Given the description of an element on the screen output the (x, y) to click on. 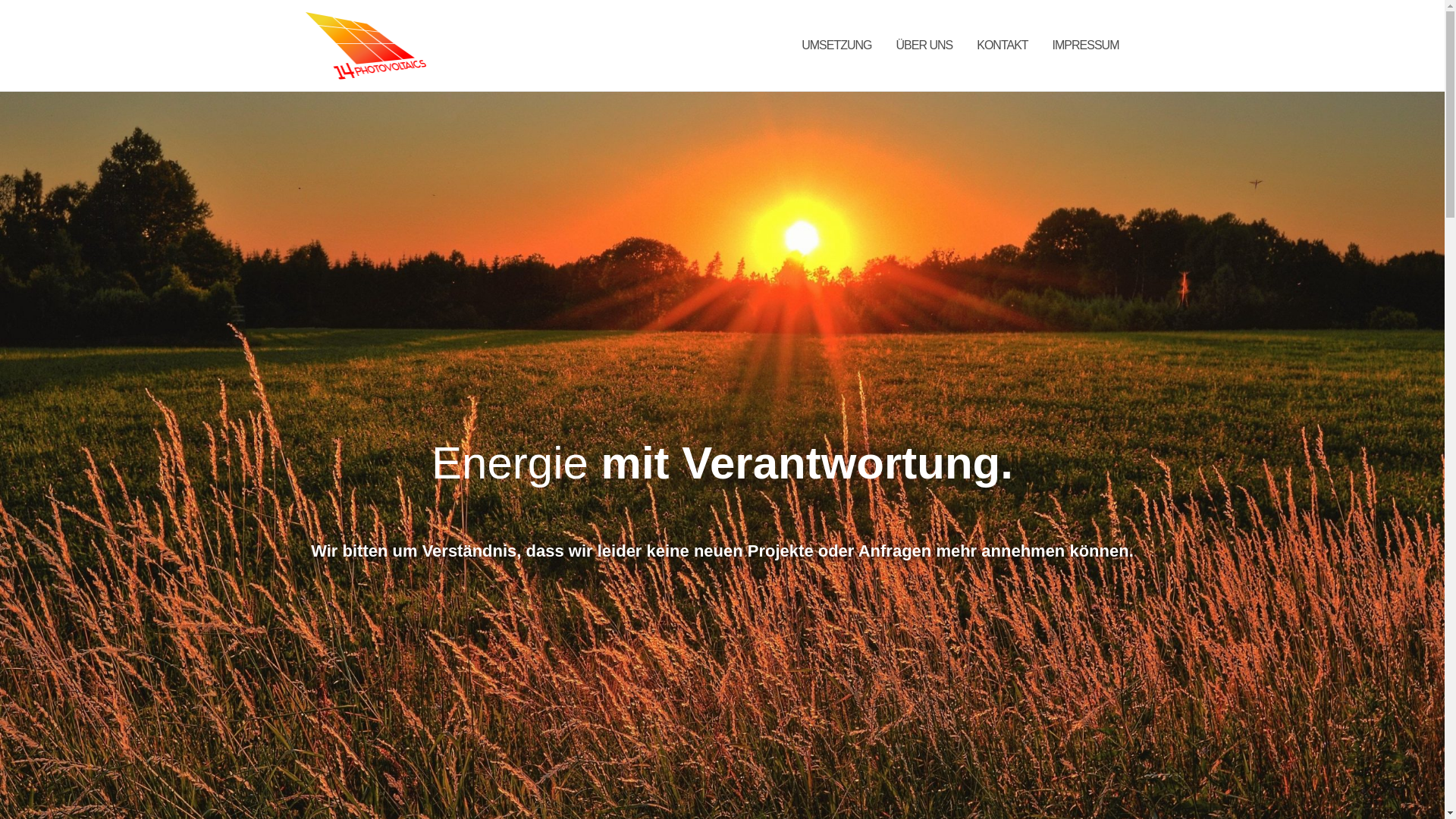
UMSETZUNG Element type: text (836, 44)
IMPRESSUM Element type: text (1085, 44)
KONTAKT Element type: text (1001, 44)
